Given the description of an element on the screen output the (x, y) to click on. 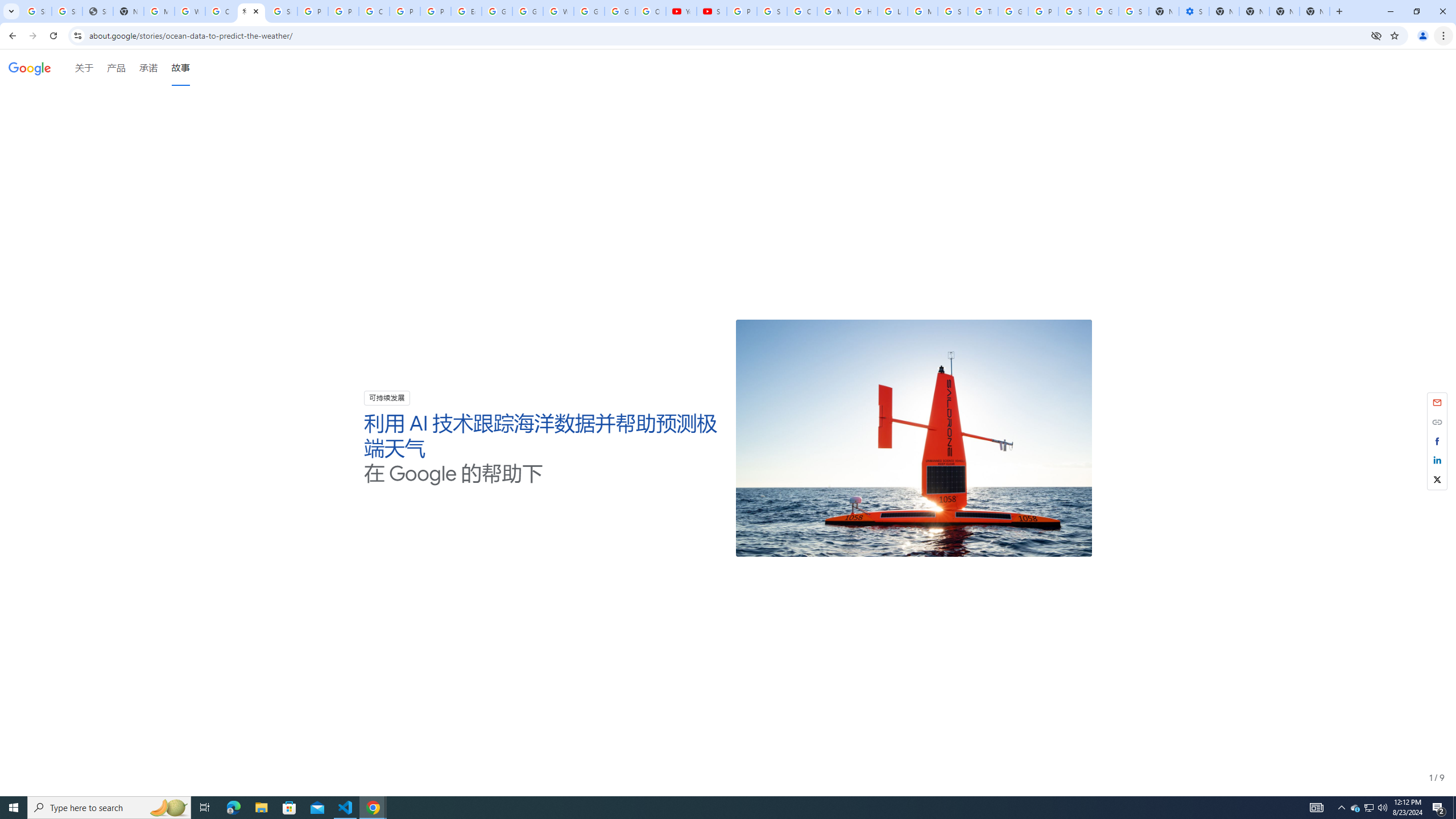
Sign In - USA TODAY (97, 11)
Welcome to My Activity (558, 11)
Sign in - Google Accounts (1133, 11)
Who is my administrator? - Google Account Help (189, 11)
YouTube (681, 11)
